Given the description of an element on the screen output the (x, y) to click on. 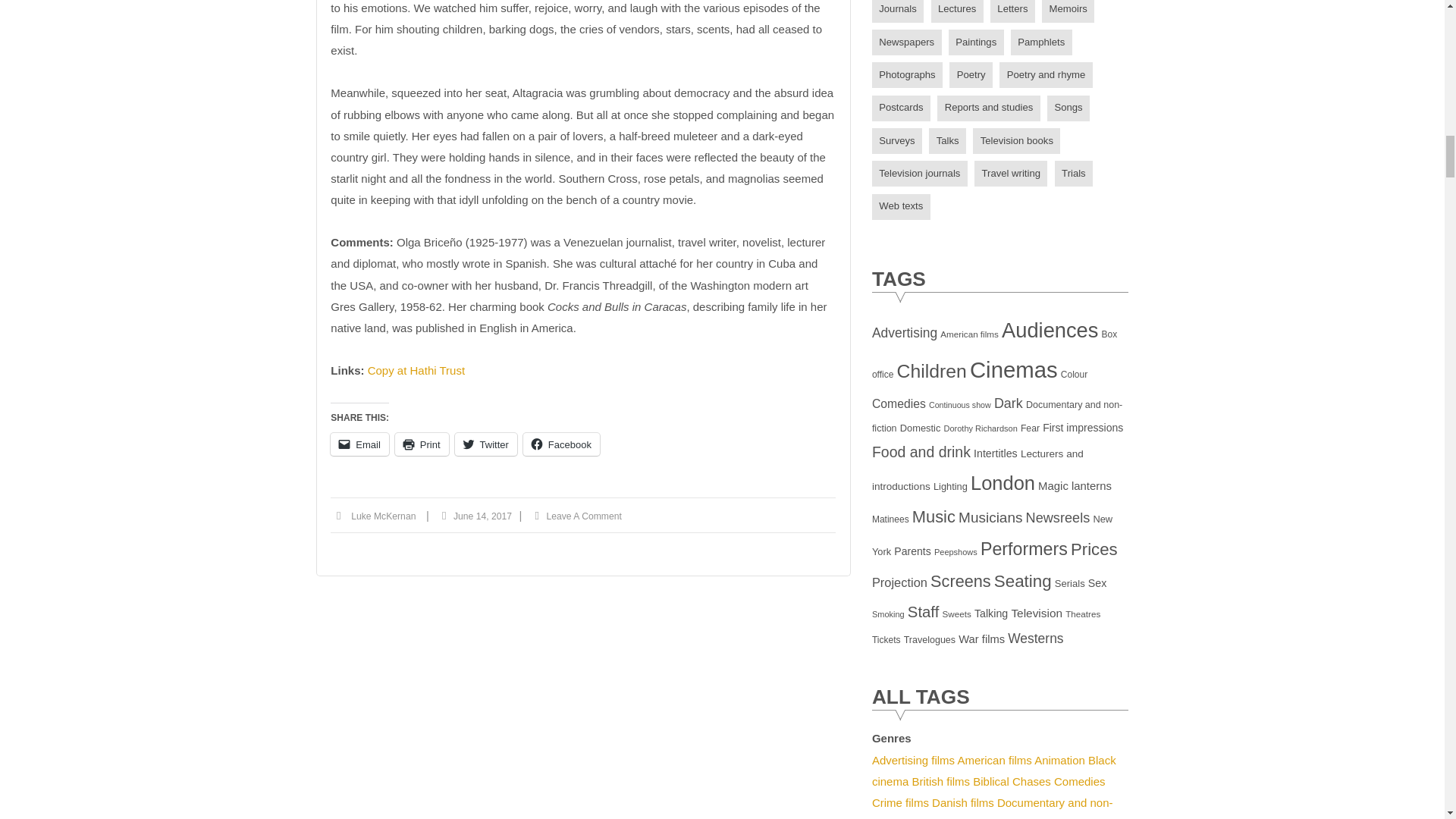
Facebook (560, 444)
Copy at Hathi Trust (416, 369)
Luke McKernan (382, 516)
Click to email a link to a friend (359, 444)
Print (421, 444)
Click to share on Twitter (485, 444)
Click to share on Facebook (560, 444)
June 14, 2017 (482, 516)
Twitter (485, 444)
Click to print (421, 444)
Leave A Comment (583, 516)
Email (359, 444)
